Given the description of an element on the screen output the (x, y) to click on. 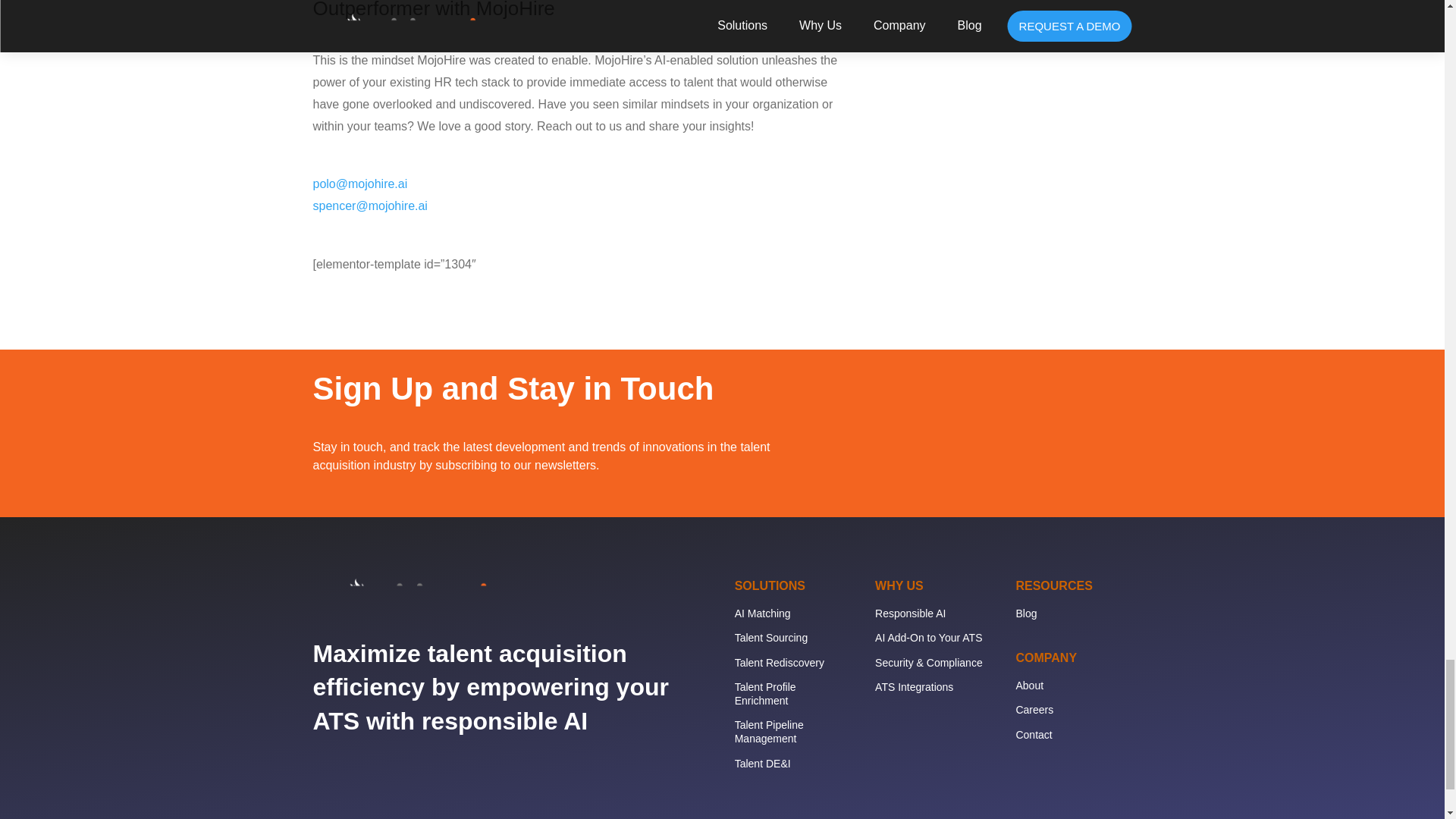
logo-color-on-black (399, 592)
Talent Sourcing (771, 637)
AI Matching (762, 613)
